Given the description of an element on the screen output the (x, y) to click on. 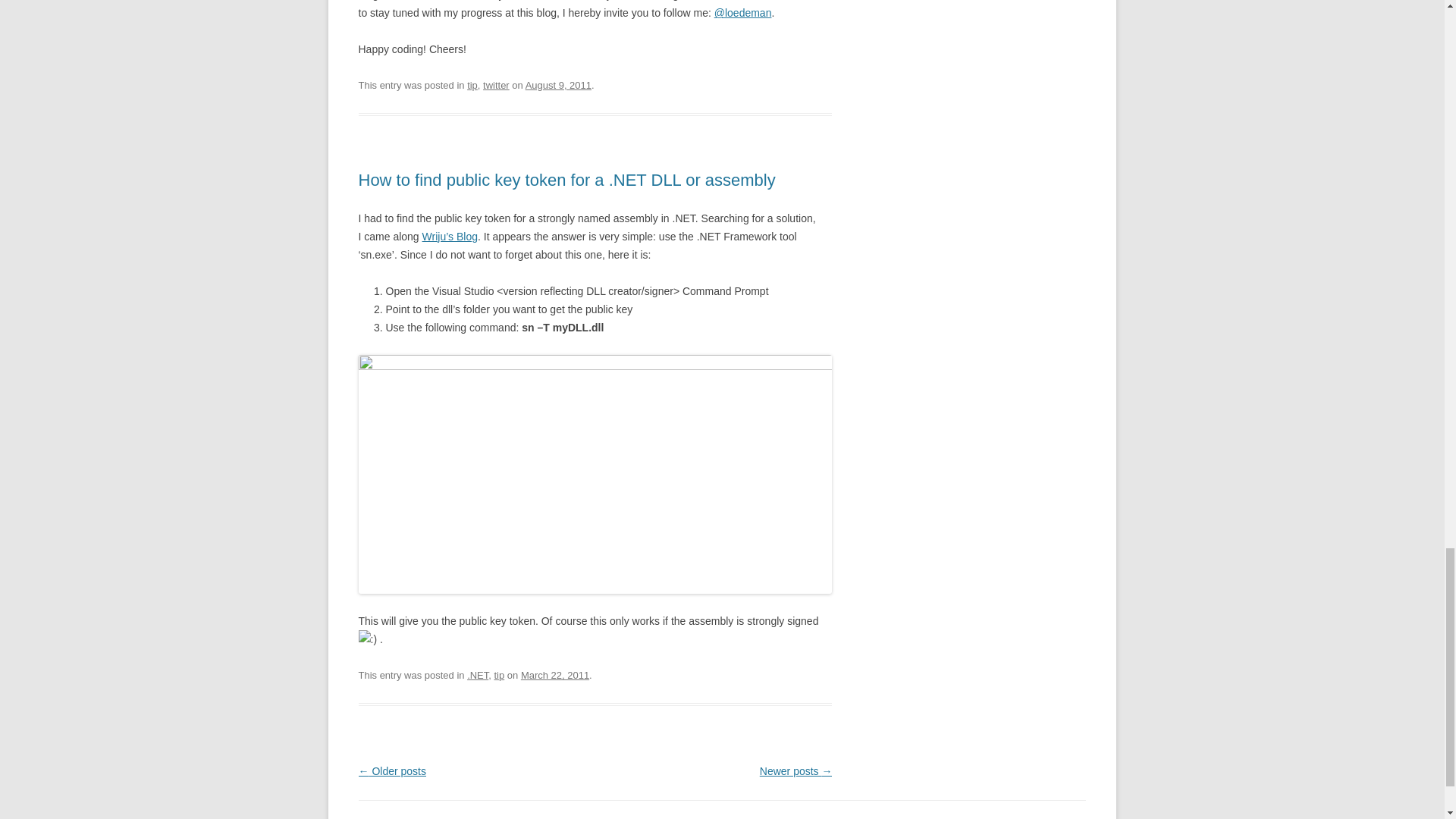
twitter (496, 84)
tip (472, 84)
How to find public key token for a .NET DLL or assembly (566, 179)
.NET (477, 674)
August 9, 2011 (558, 84)
March 22, 2011 (555, 674)
tip (498, 674)
